Given the description of an element on the screen output the (x, y) to click on. 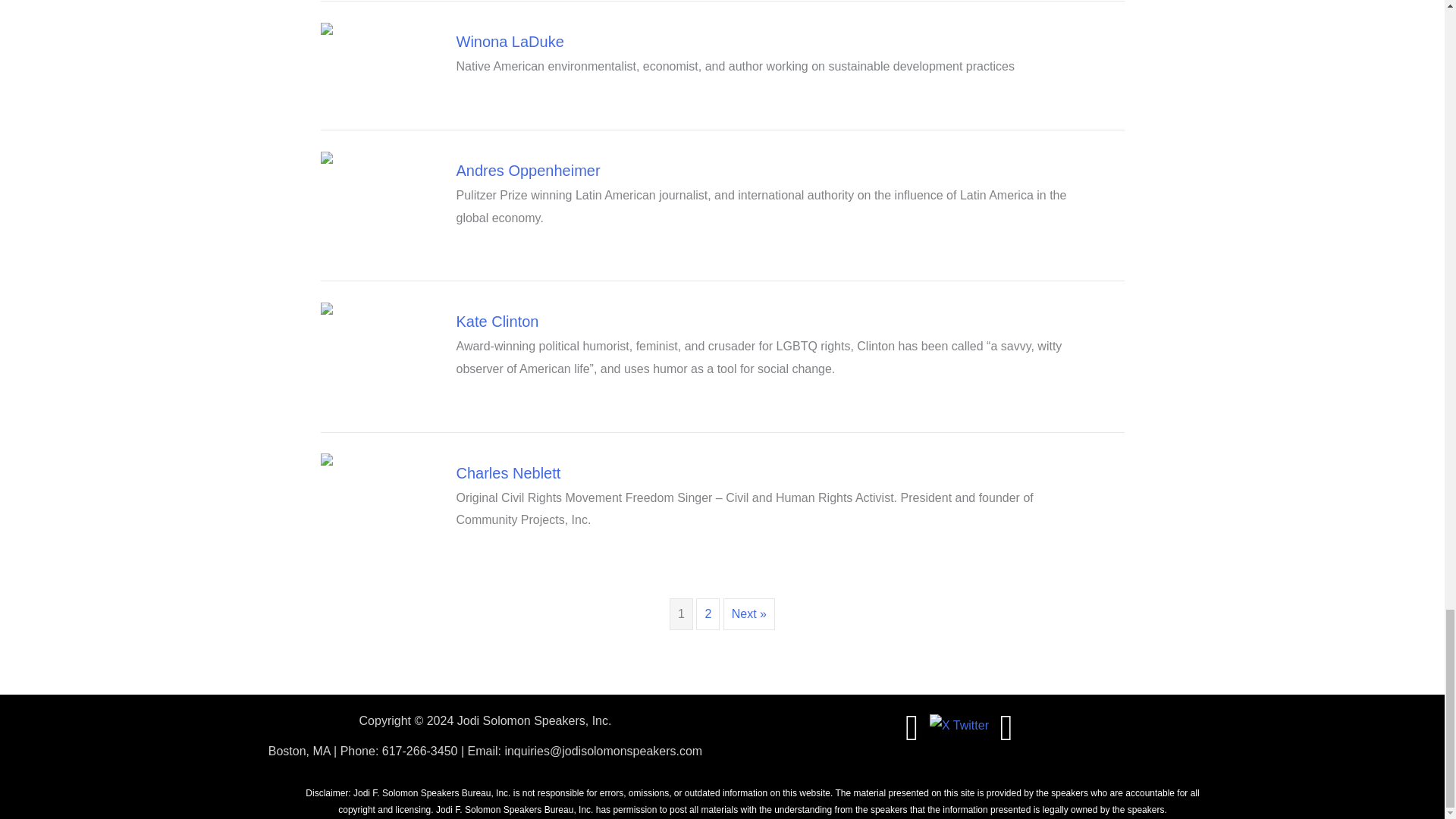
Winona LaDuke (510, 41)
Charles Neblett (508, 473)
Winona LaDuke (510, 41)
Andres Oppenheimer (528, 170)
Kate Clinton (497, 321)
